Given the description of an element on the screen output the (x, y) to click on. 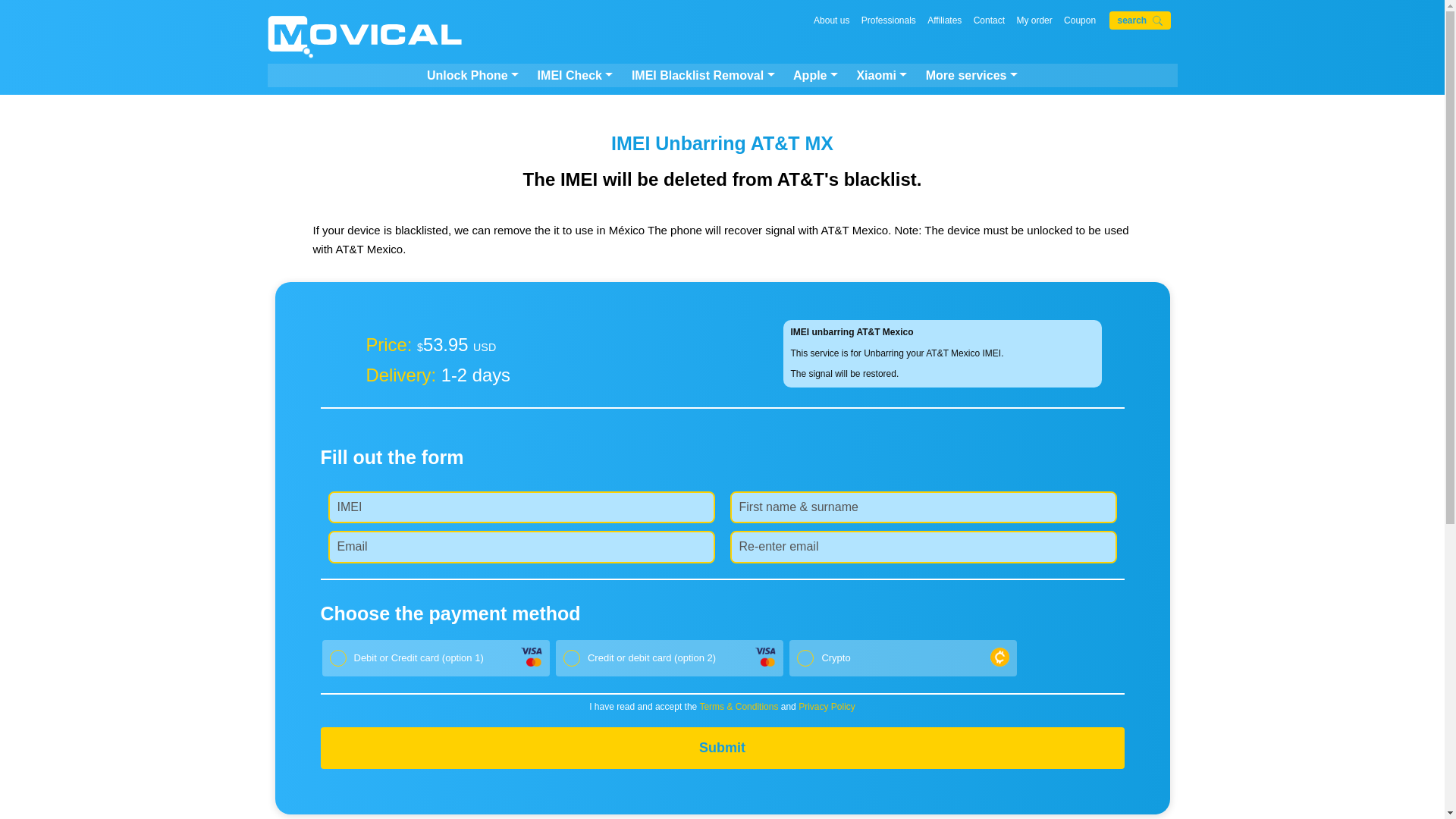
Movical.Net (364, 37)
Unlock Phone (472, 76)
About us (830, 20)
IMEI Blacklist Removal (702, 76)
My order (1033, 20)
Affiliates (943, 20)
IMEI Check (574, 76)
Professionals (888, 20)
Contact (989, 20)
search (1139, 20)
You receive unlocking instructions in this email (521, 546)
Coupon (1080, 20)
Re-enter email (922, 546)
